Given the description of an element on the screen output the (x, y) to click on. 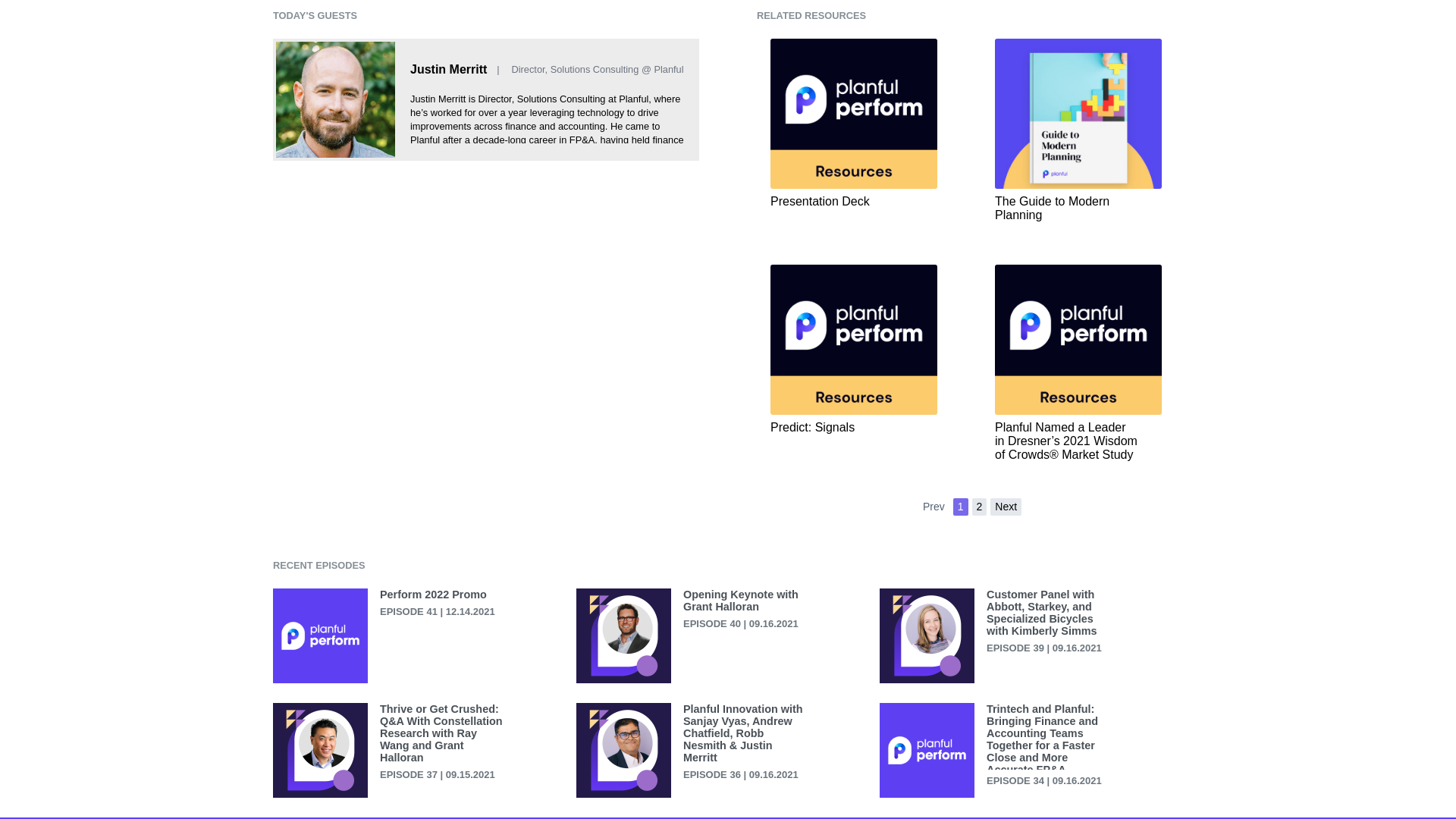
Predict: Signals (853, 349)
Presentation Deck (853, 123)
The Guide to Modern Planning (1077, 129)
Presentation Deck (853, 123)
The Guide to Modern Planning (1077, 129)
Predict: Signals (853, 349)
